Given the description of an element on the screen output the (x, y) to click on. 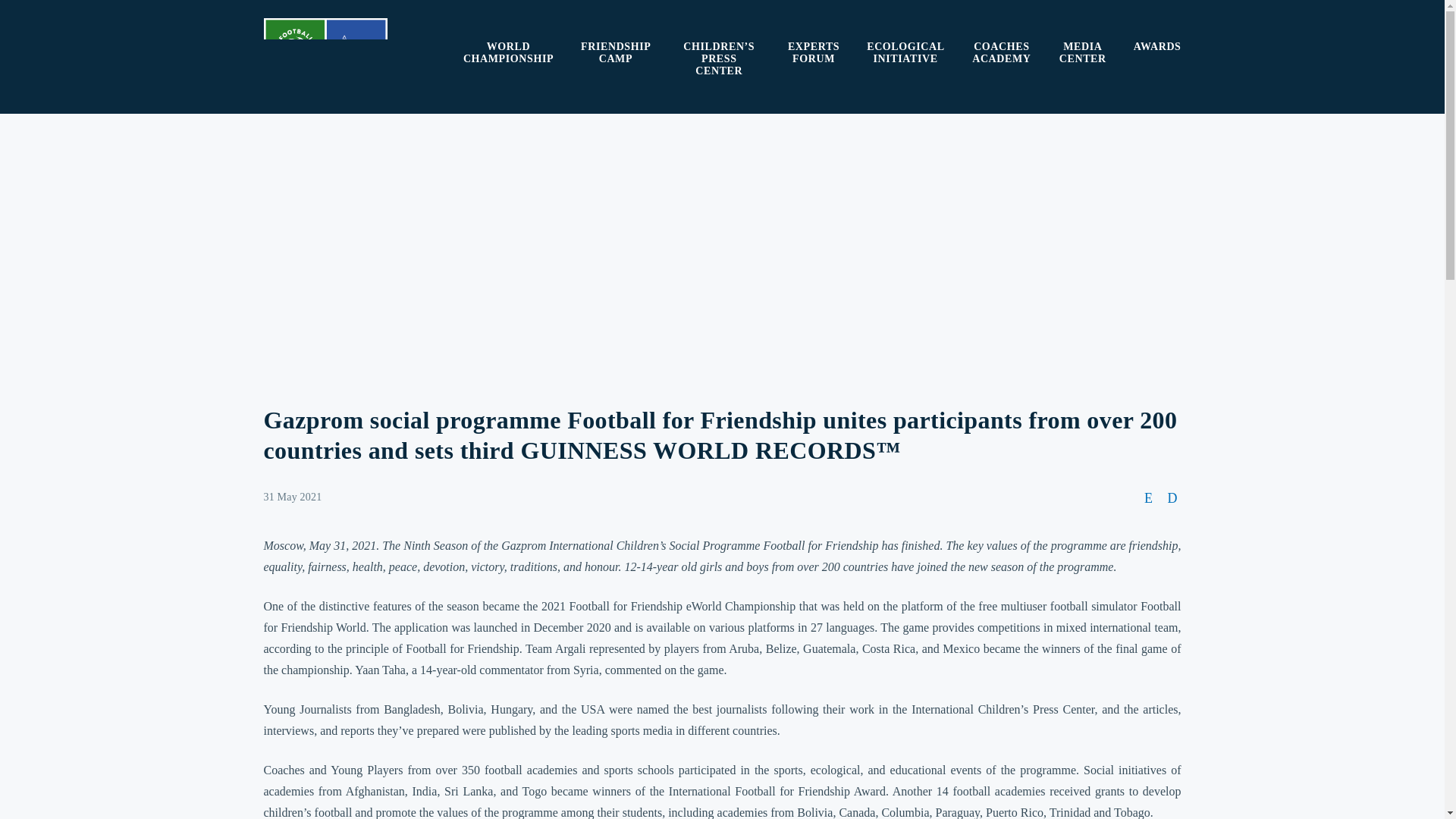
FRIENDSHIP CAMP (615, 52)
EXPERTS FORUM (813, 52)
ECOLOGICAL INITIATIVE (904, 52)
MEDIA CENTER (1082, 52)
AWARDS (1157, 46)
COACHES ACADEMY (1001, 52)
WORLD CHAMPIONSHIP (508, 52)
